Given the description of an element on the screen output the (x, y) to click on. 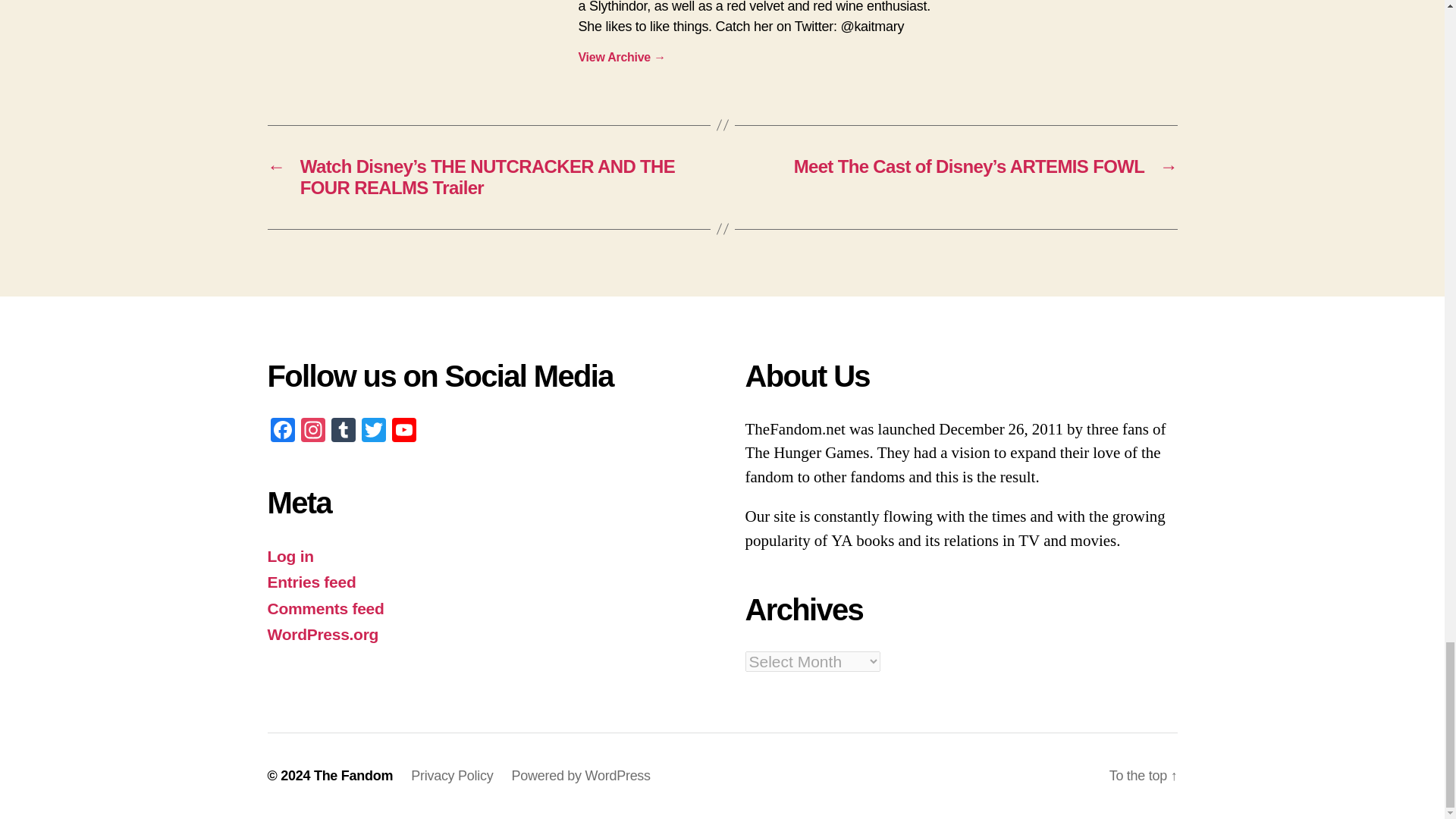
Instagram (312, 431)
Twitter (373, 431)
Facebook (281, 431)
YouTube Channel (403, 431)
Tumblr (342, 431)
